Given the description of an element on the screen output the (x, y) to click on. 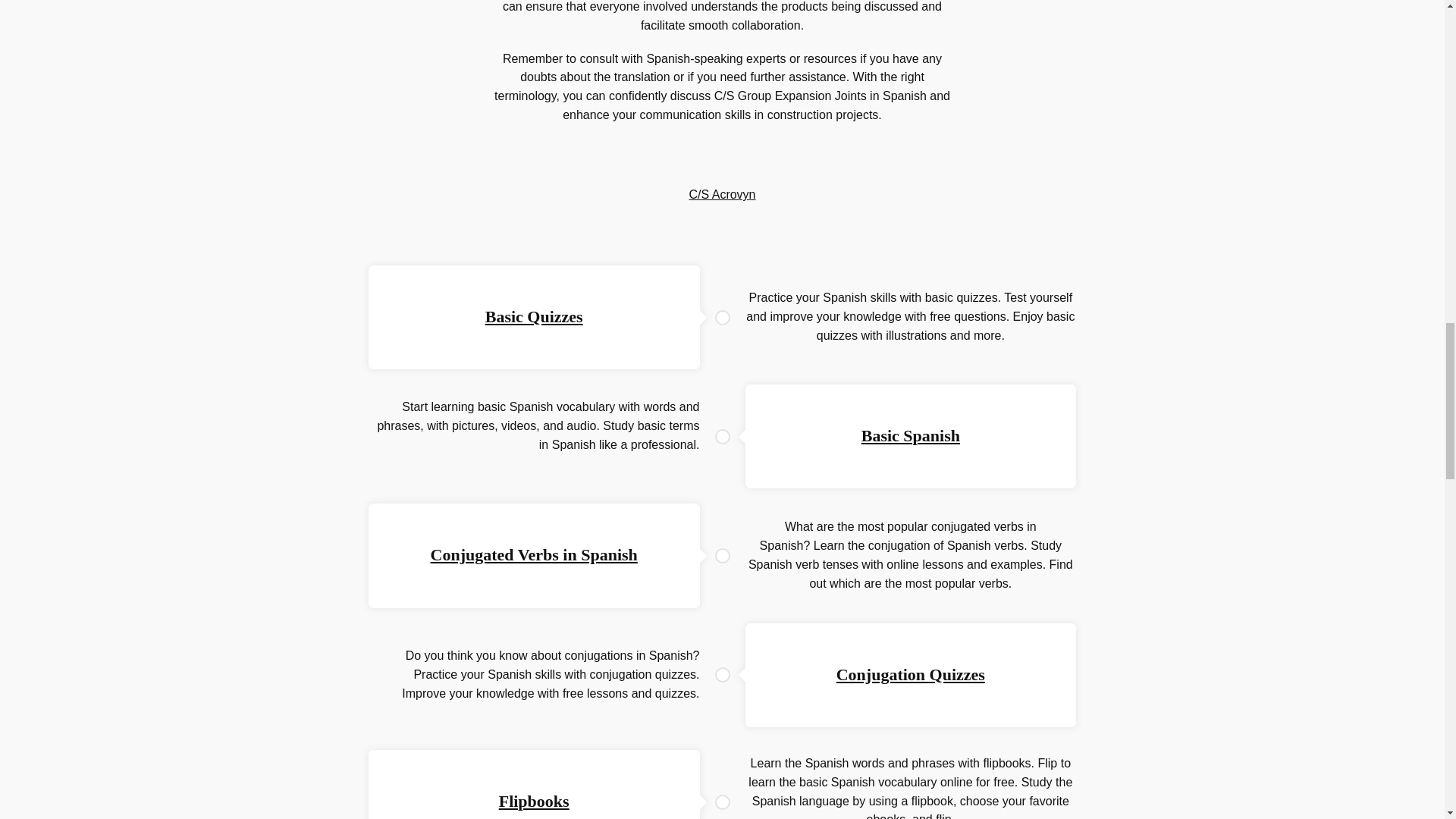
Basic Quizzes (533, 316)
Conjugation Quizzes (910, 674)
Conjugated Verbs in Spanish (533, 554)
Basic Spanish (910, 435)
Flipbooks (534, 800)
